Given the description of an element on the screen output the (x, y) to click on. 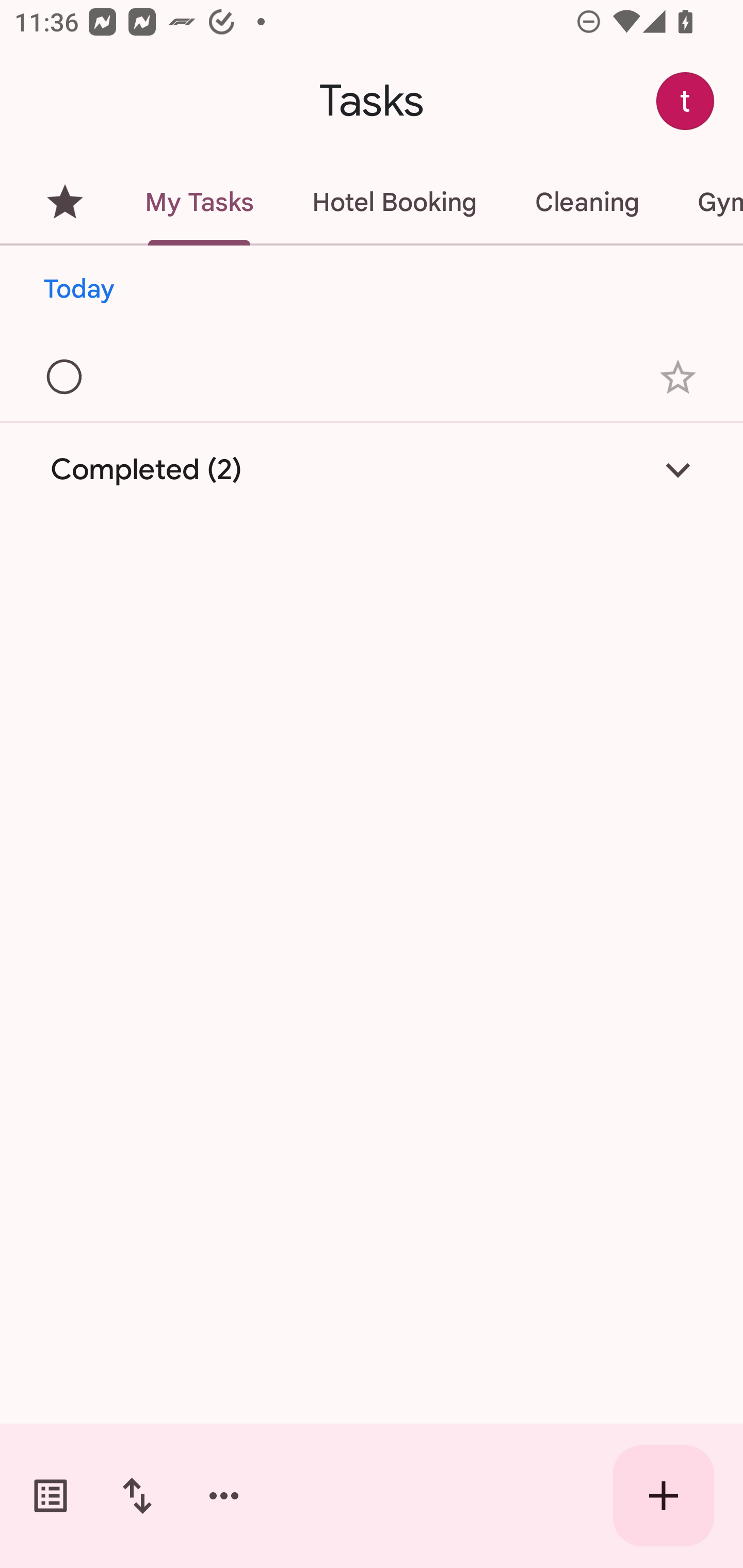
Starred (64, 202)
Hotel Booking (394, 202)
Cleaning (586, 202)
Add star (677, 376)
Mark as complete (64, 377)
Completed (2) (371, 470)
Switch task lists (50, 1495)
Create new task (663, 1495)
Change sort order (136, 1495)
More options (223, 1495)
